Given the description of an element on the screen output the (x, y) to click on. 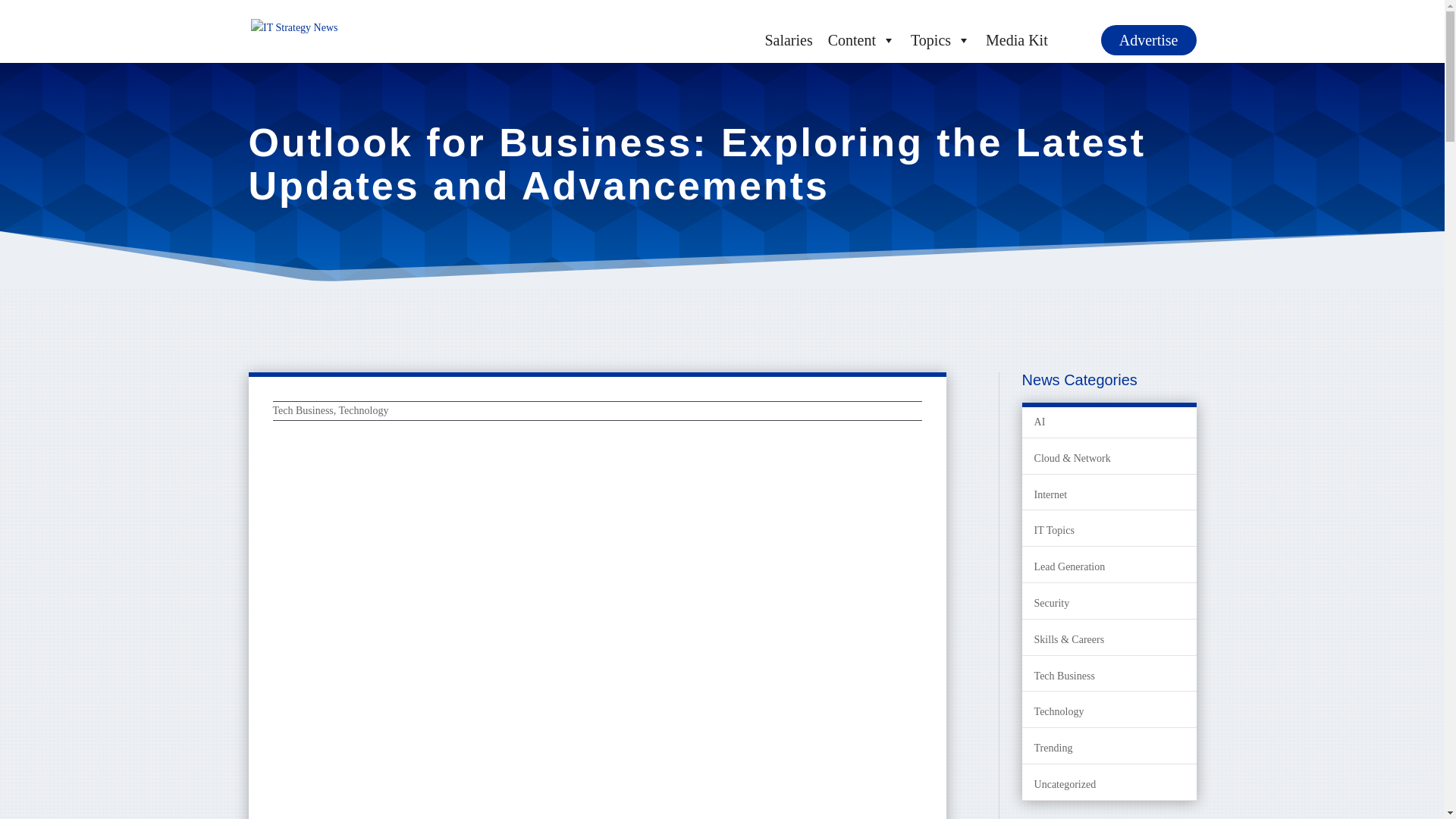
Salaries (788, 40)
Content (861, 40)
Technology (363, 410)
Advertise (1148, 40)
Media Kit (1016, 40)
Topics (940, 40)
Tech Business (303, 410)
